Given the description of an element on the screen output the (x, y) to click on. 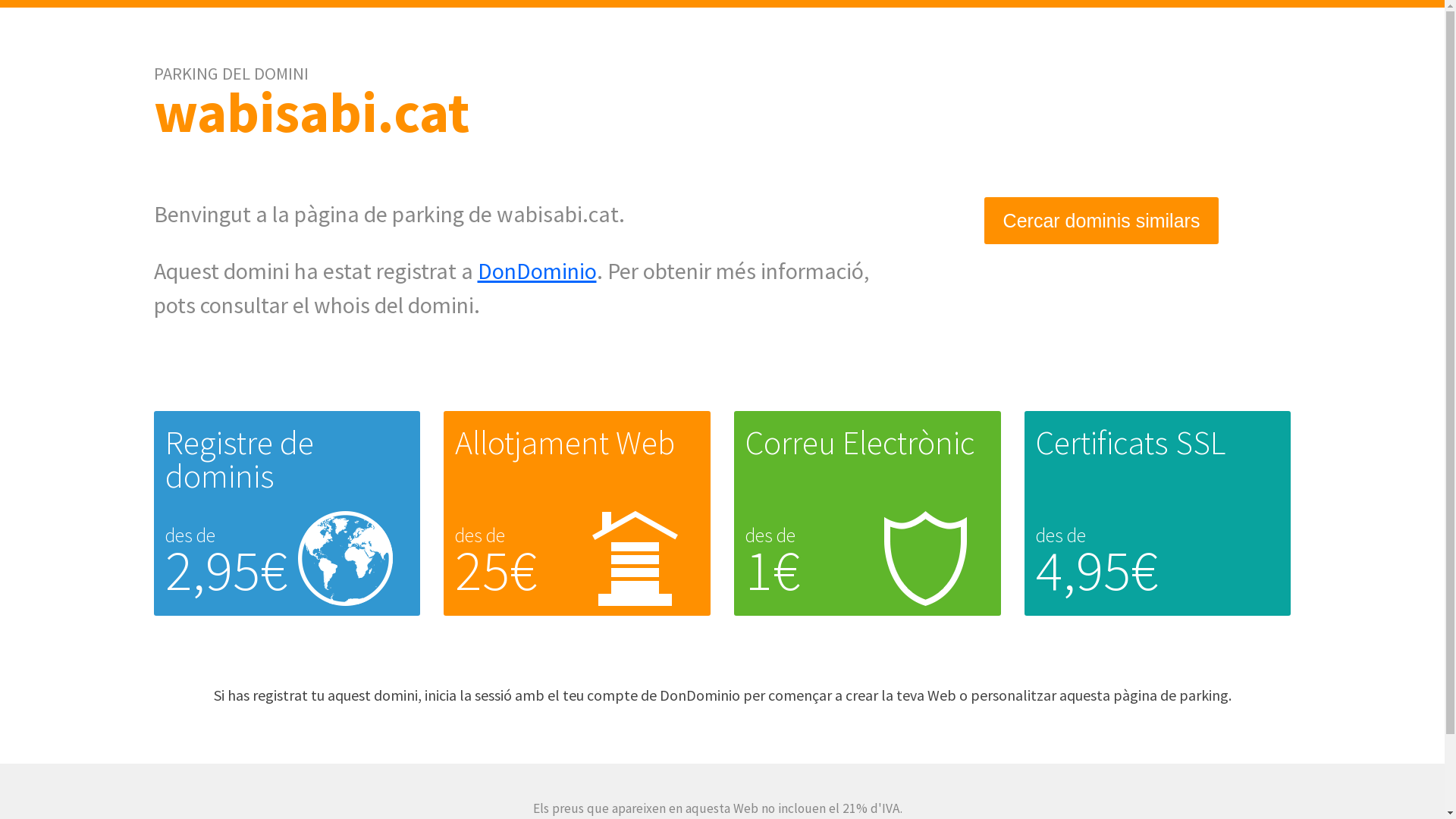
Certificats SSL Element type: text (1130, 442)
DonDominio Element type: text (536, 270)
Registre de dominis Element type: text (239, 458)
Allotjament Web Element type: text (564, 442)
Cercar dominis similars Element type: text (1101, 220)
